Given the description of an element on the screen output the (x, y) to click on. 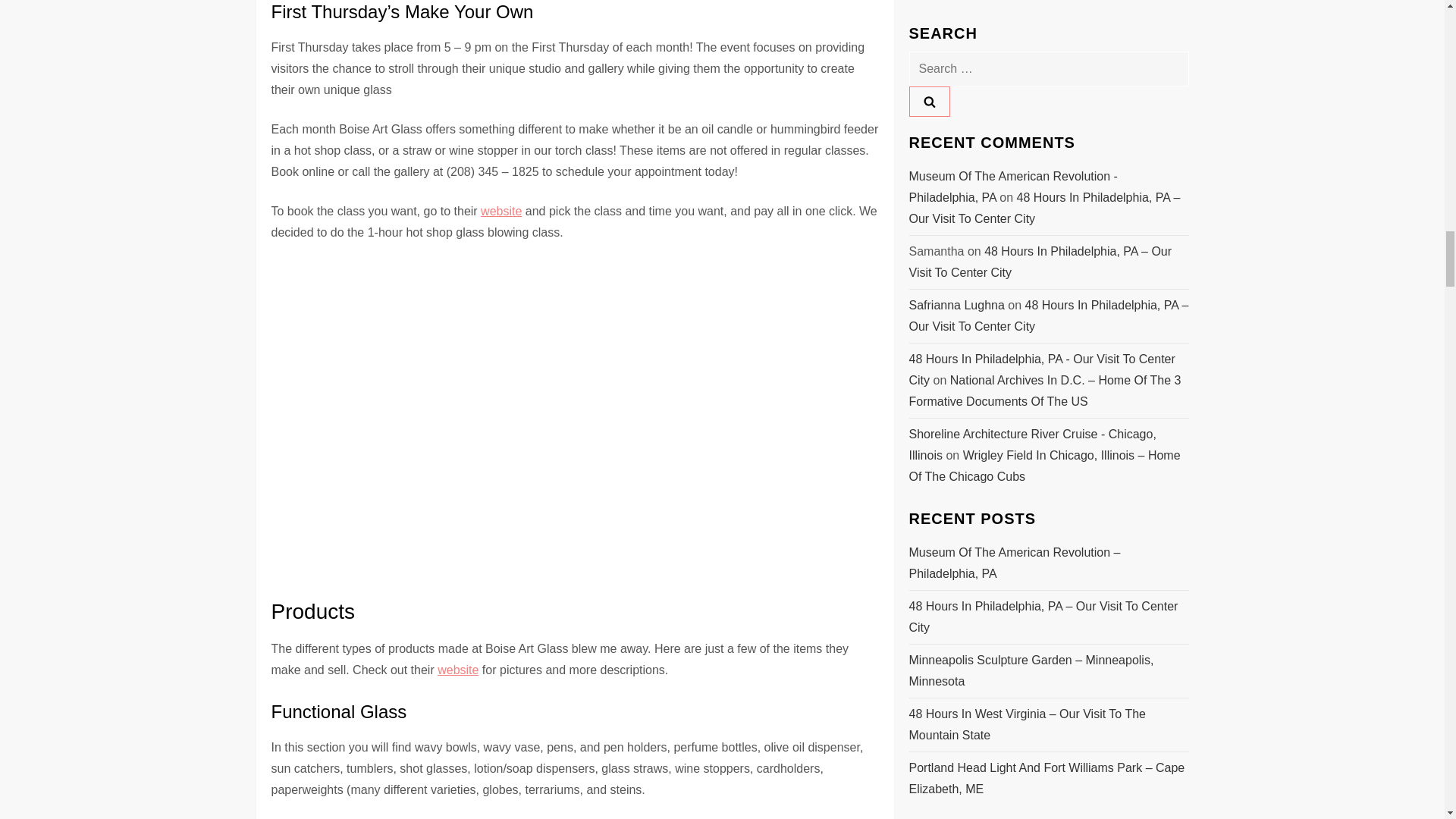
website (500, 210)
website (458, 669)
